Given the description of an element on the screen output the (x, y) to click on. 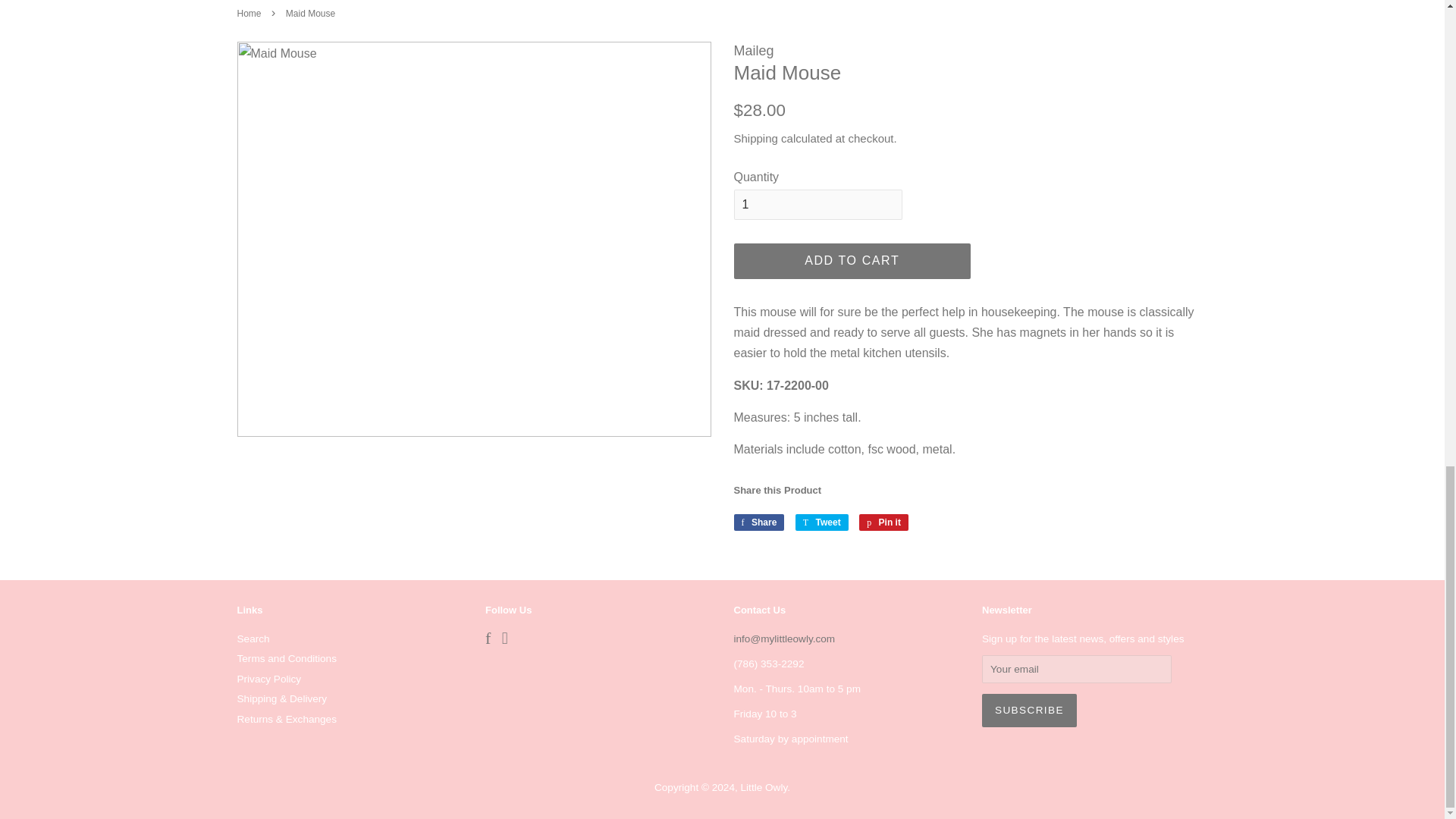
Share on Facebook (758, 522)
1 (817, 204)
Subscribe (1029, 710)
Tweet on Twitter (821, 522)
Little Owly on Instagram (505, 640)
CONTACT US (784, 638)
Pin on Pinterest (883, 522)
Little Owly on Facebook (487, 640)
Back to the frontpage (249, 13)
